Given the description of an element on the screen output the (x, y) to click on. 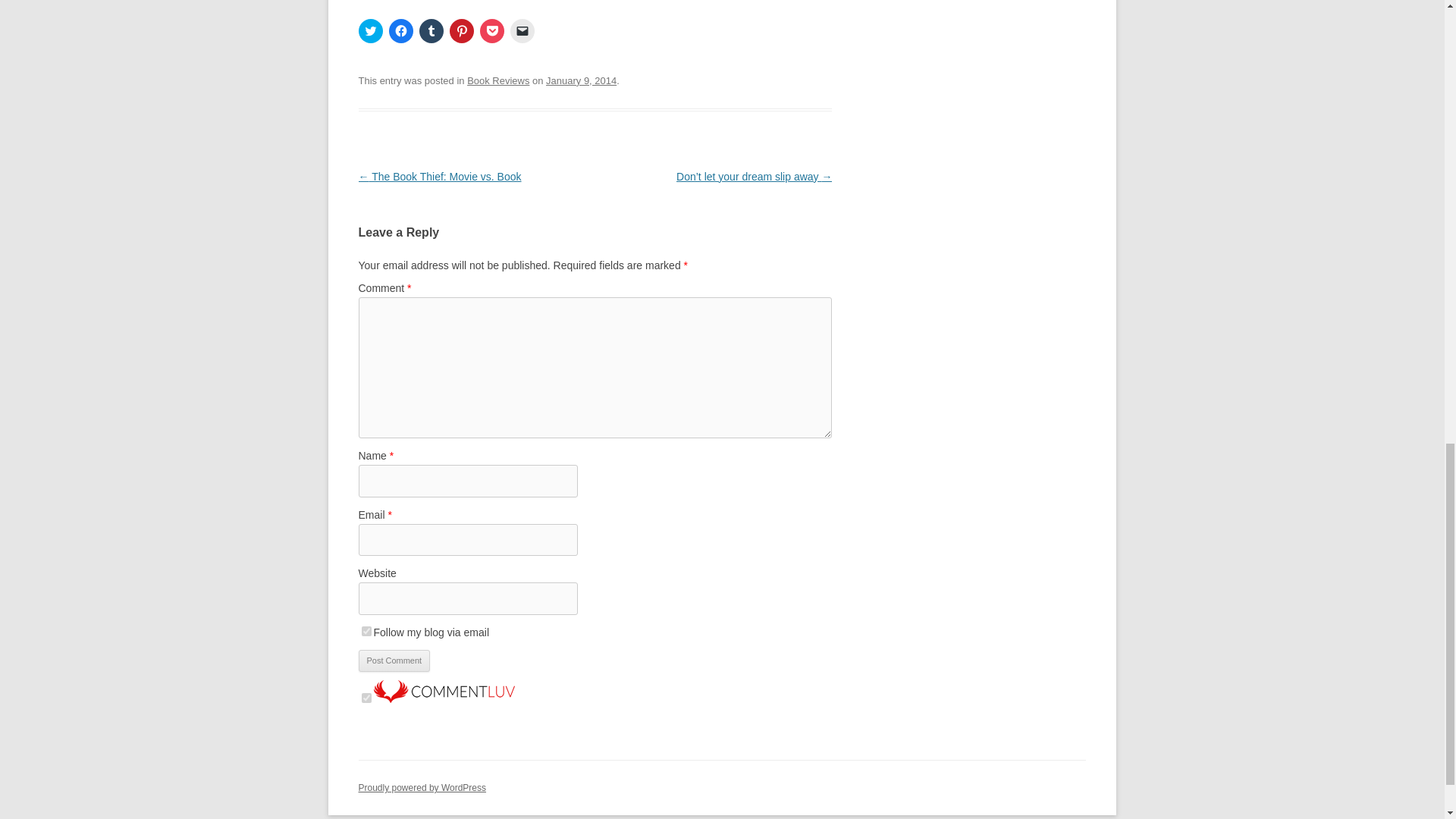
Click to share on Pinterest (460, 30)
January 9, 2014 (580, 80)
Proudly powered by WordPress (422, 787)
Semantic Personal Publishing Platform (422, 787)
Click to email a link to a friend (521, 30)
Book Reviews (498, 80)
Click to share on Twitter (369, 30)
on (366, 697)
6:00 am (580, 80)
1 (366, 631)
Post Comment (393, 661)
Click to share on Pocket (491, 30)
Click to share on Facebook (400, 30)
Post Comment (393, 661)
CommentLuv is enabled (442, 698)
